Given the description of an element on the screen output the (x, y) to click on. 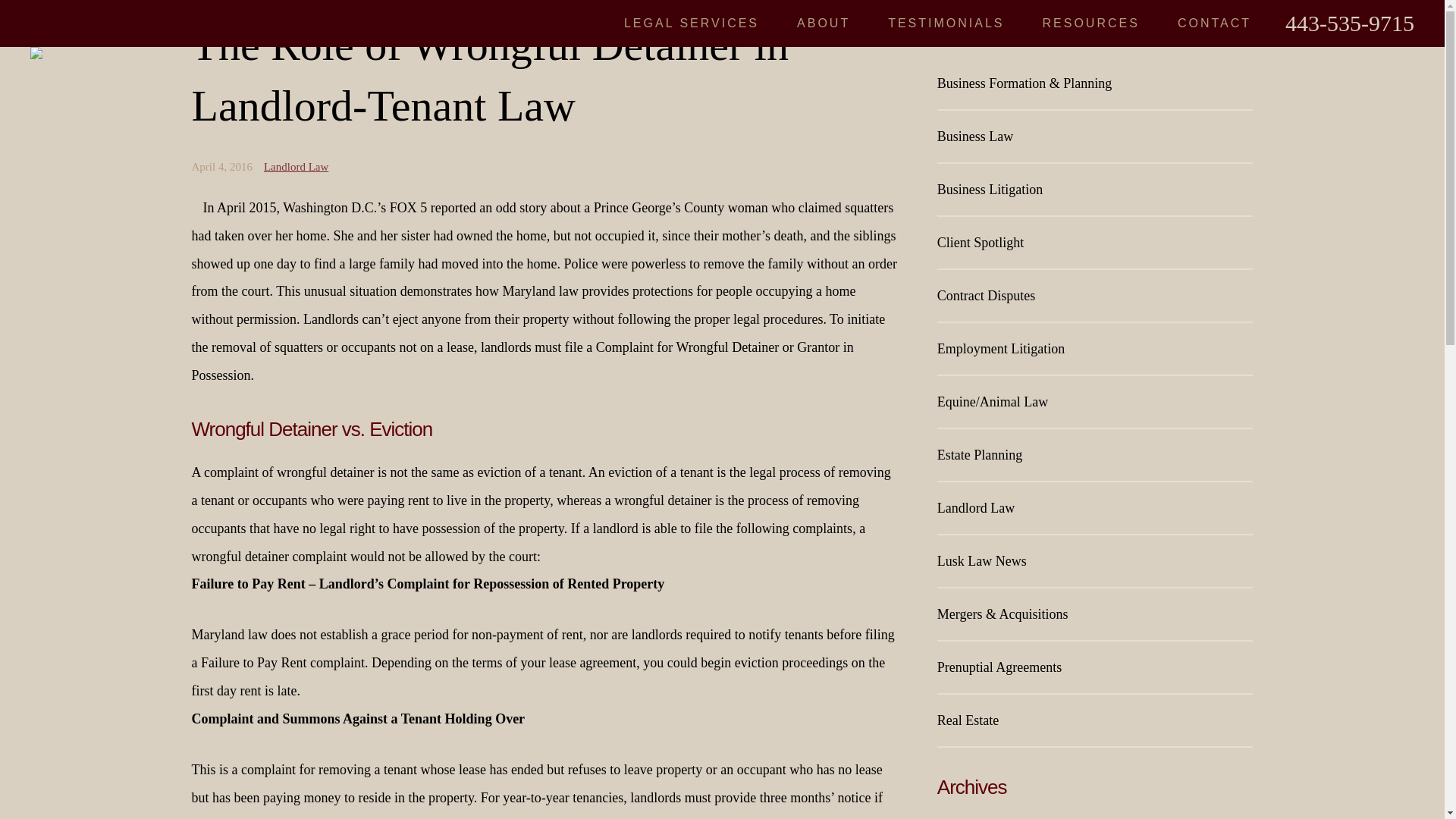
Primary (296, 166)
TESTIMONIALS (946, 23)
CONTACT (1213, 23)
443-535-9715 (1349, 23)
ABOUT (823, 23)
RESOURCES (1090, 23)
LEGAL SERVICES (691, 23)
